Given the description of an element on the screen output the (x, y) to click on. 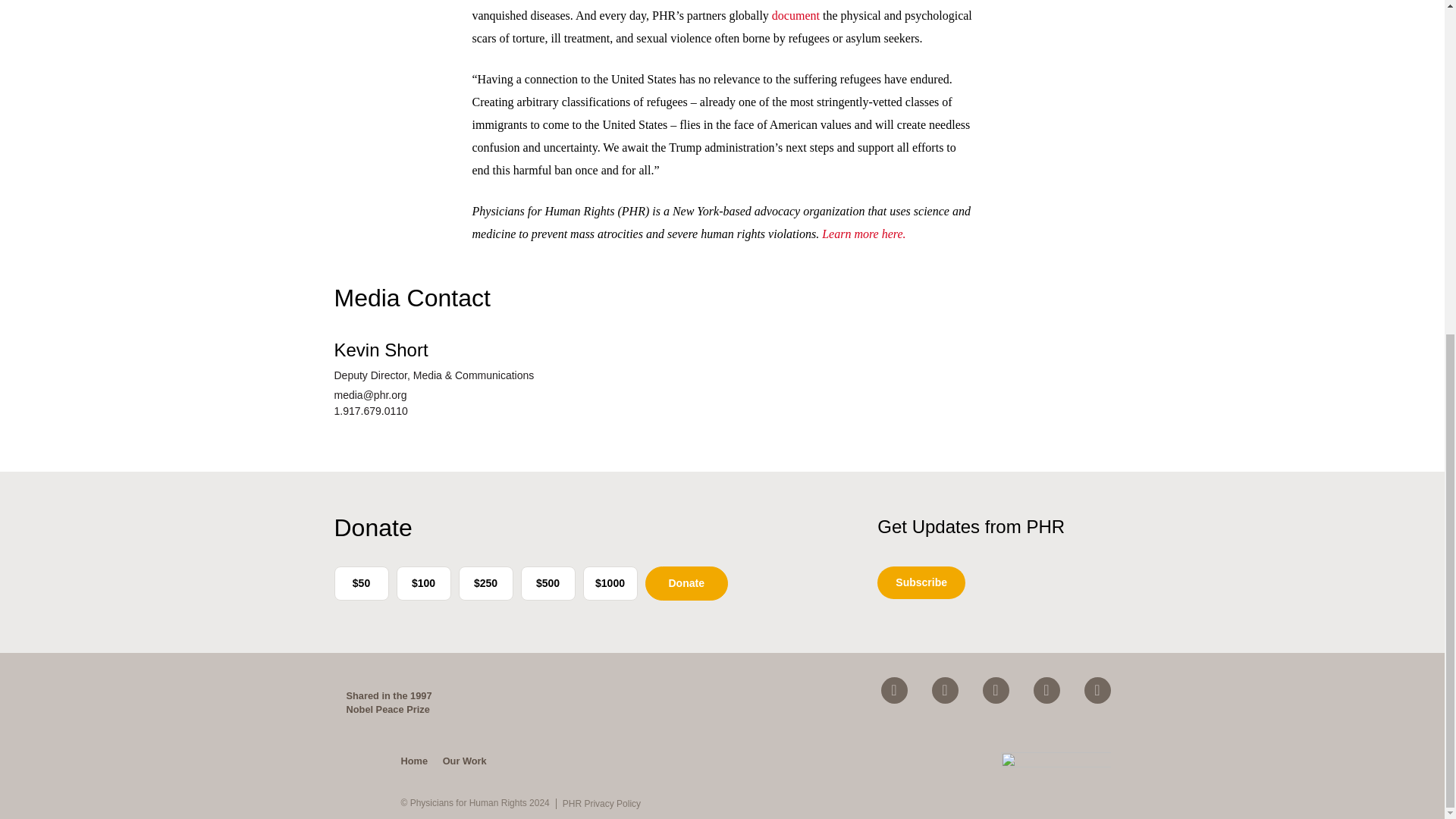
Asylum (795, 15)
